Given the description of an element on the screen output the (x, y) to click on. 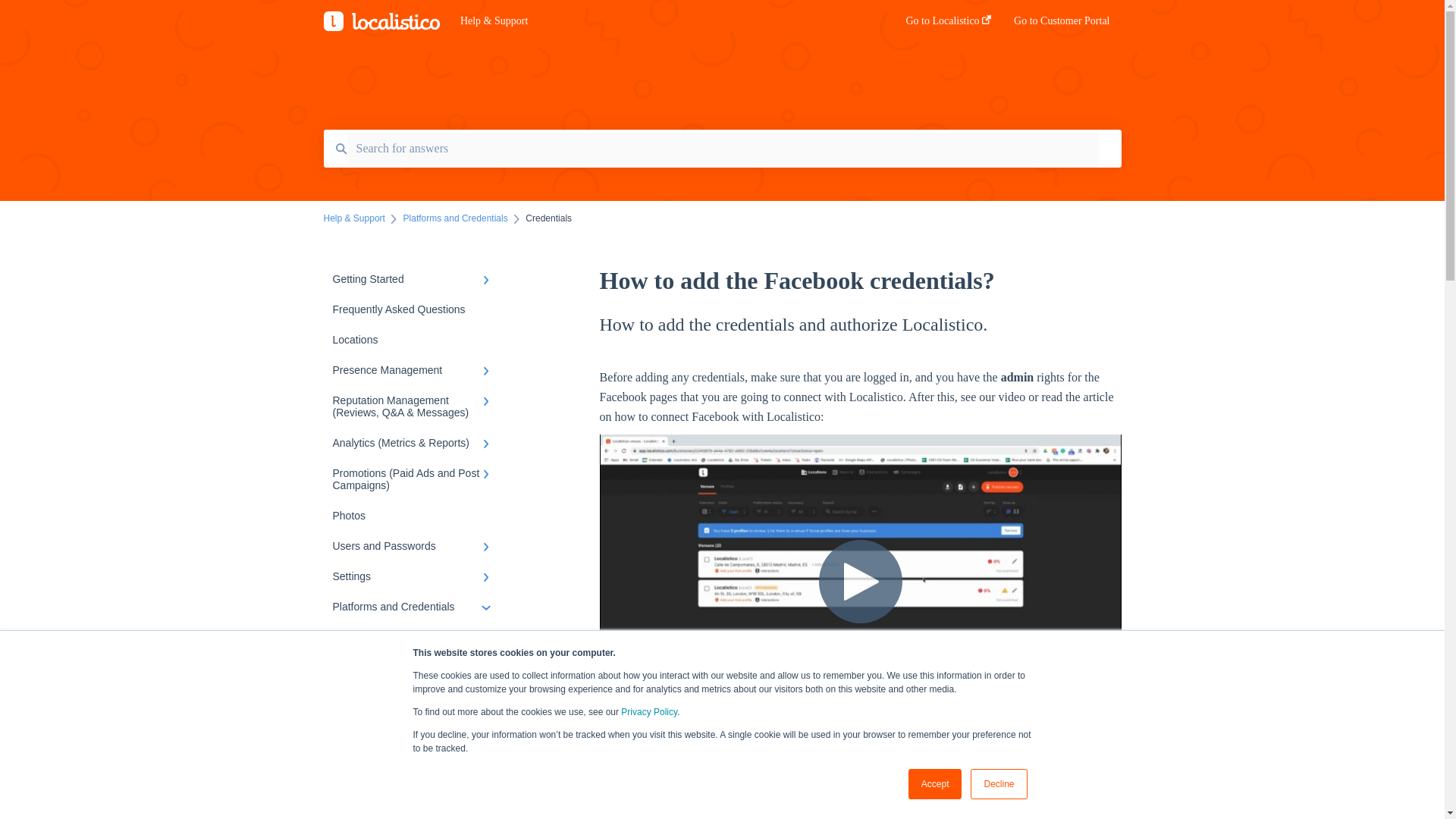
Decline (998, 784)
Go to Localistico (948, 25)
Accept (935, 784)
Go to Customer Portal (1061, 25)
Privacy Policy (649, 711)
